Given the description of an element on the screen output the (x, y) to click on. 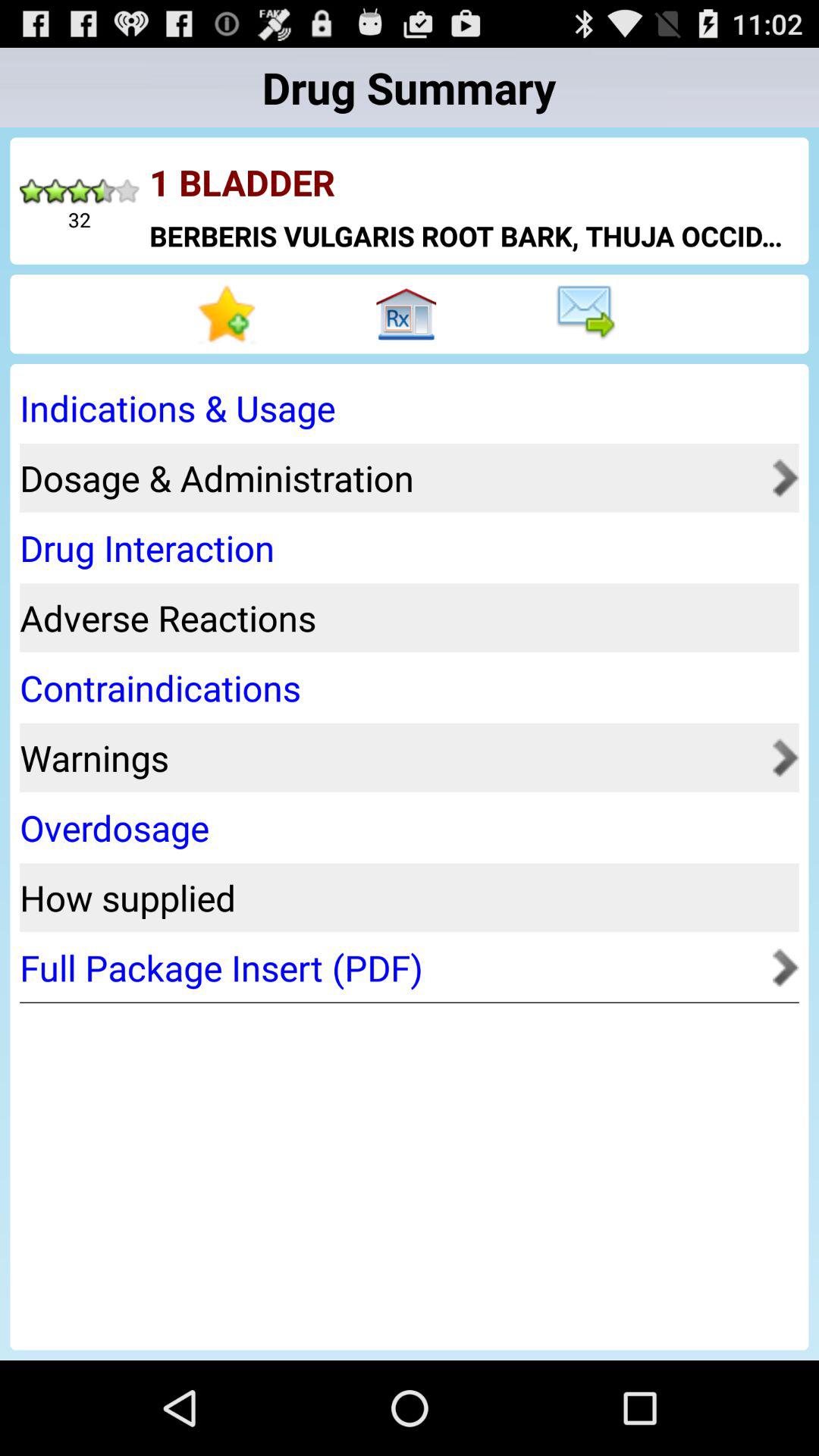
turn on item above the indications & usage item (589, 314)
